Given the description of an element on the screen output the (x, y) to click on. 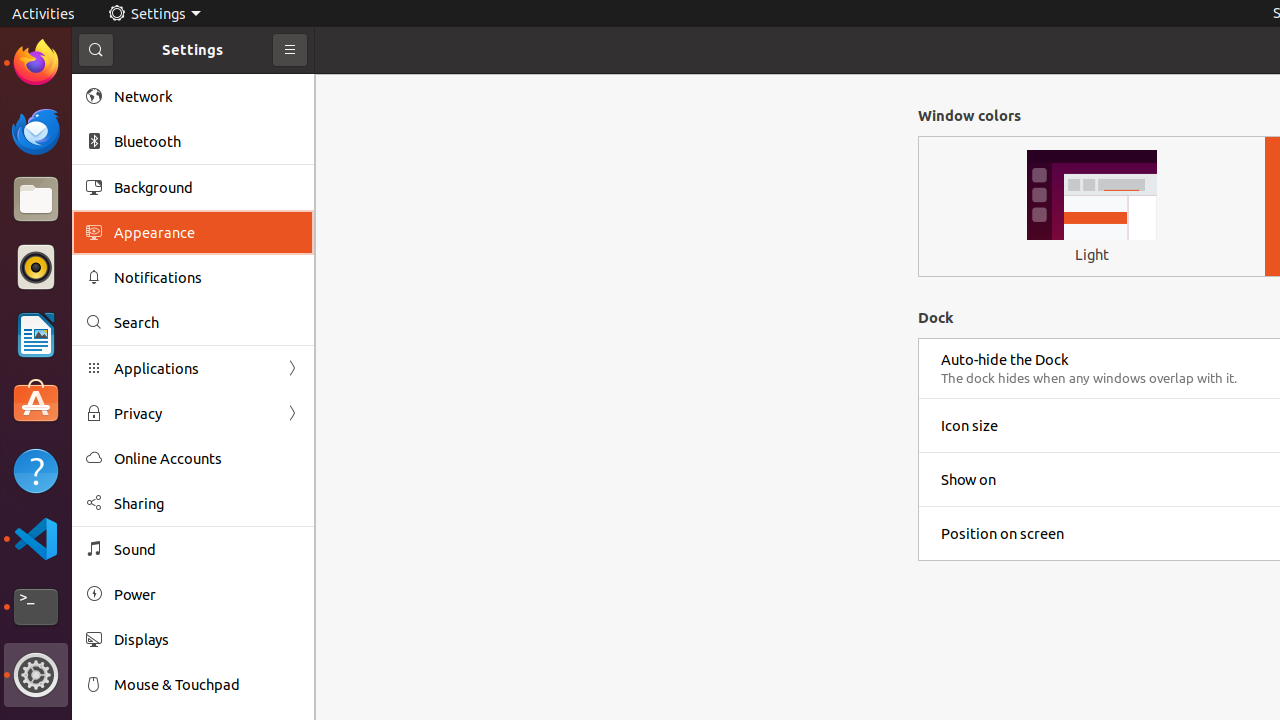
Light Element type: label (1092, 254)
Privacy Element type: label (193, 413)
Power Element type: label (207, 594)
Settings Element type: menu (154, 13)
Forward Element type: icon (292, 413)
